Given the description of an element on the screen output the (x, y) to click on. 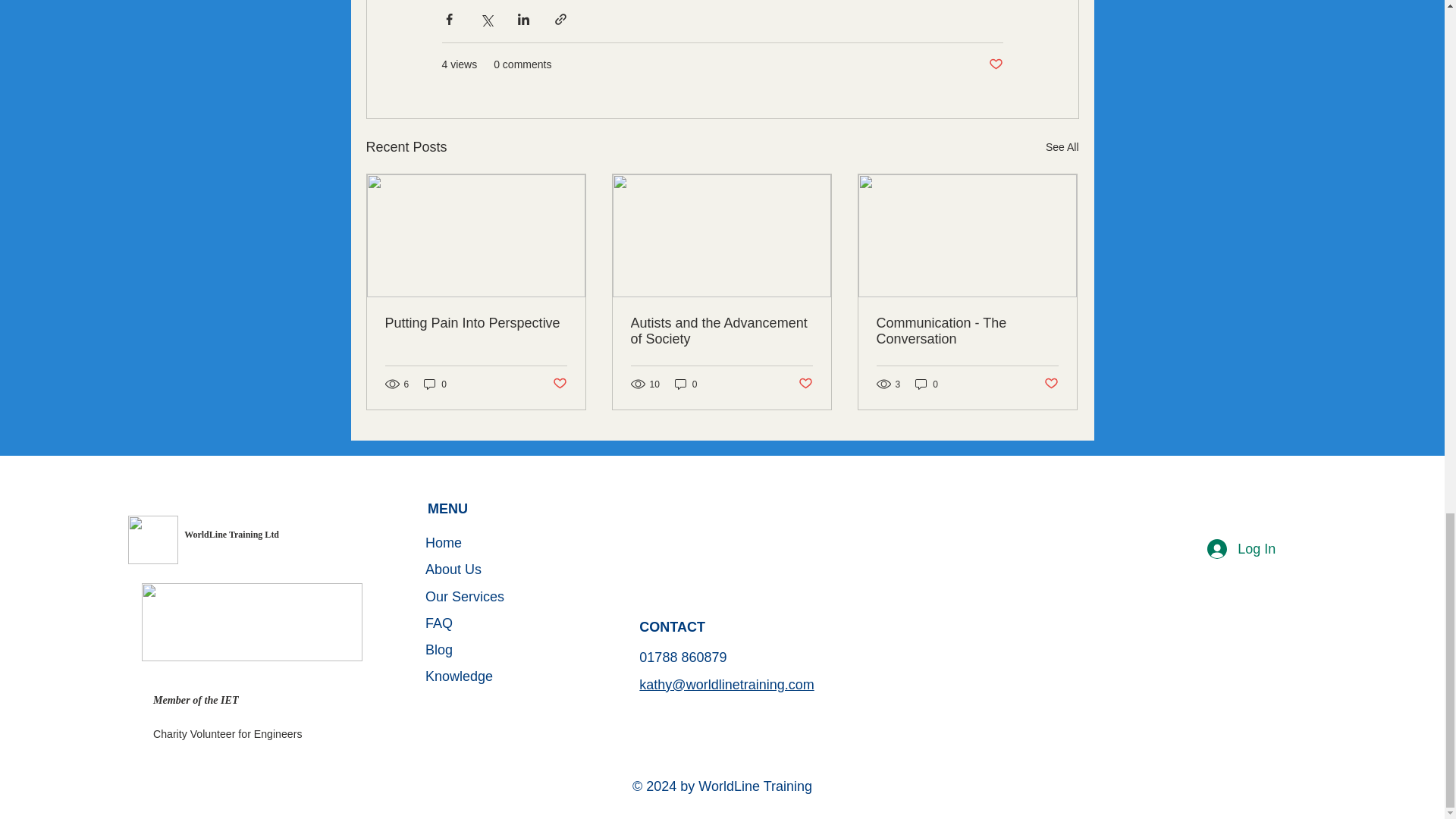
Putting Pain Into Perspective (476, 323)
0 (926, 383)
Post not marked as liked (1050, 383)
Home (506, 542)
Log In (1240, 548)
Autists and the Advancement of Society (721, 331)
Post not marked as liked (804, 383)
0 (435, 383)
Post not marked as liked (558, 383)
FAQ (506, 623)
Post not marked as liked (995, 64)
Knowledge (506, 676)
Blog (506, 650)
See All (1061, 147)
0 (685, 383)
